Given the description of an element on the screen output the (x, y) to click on. 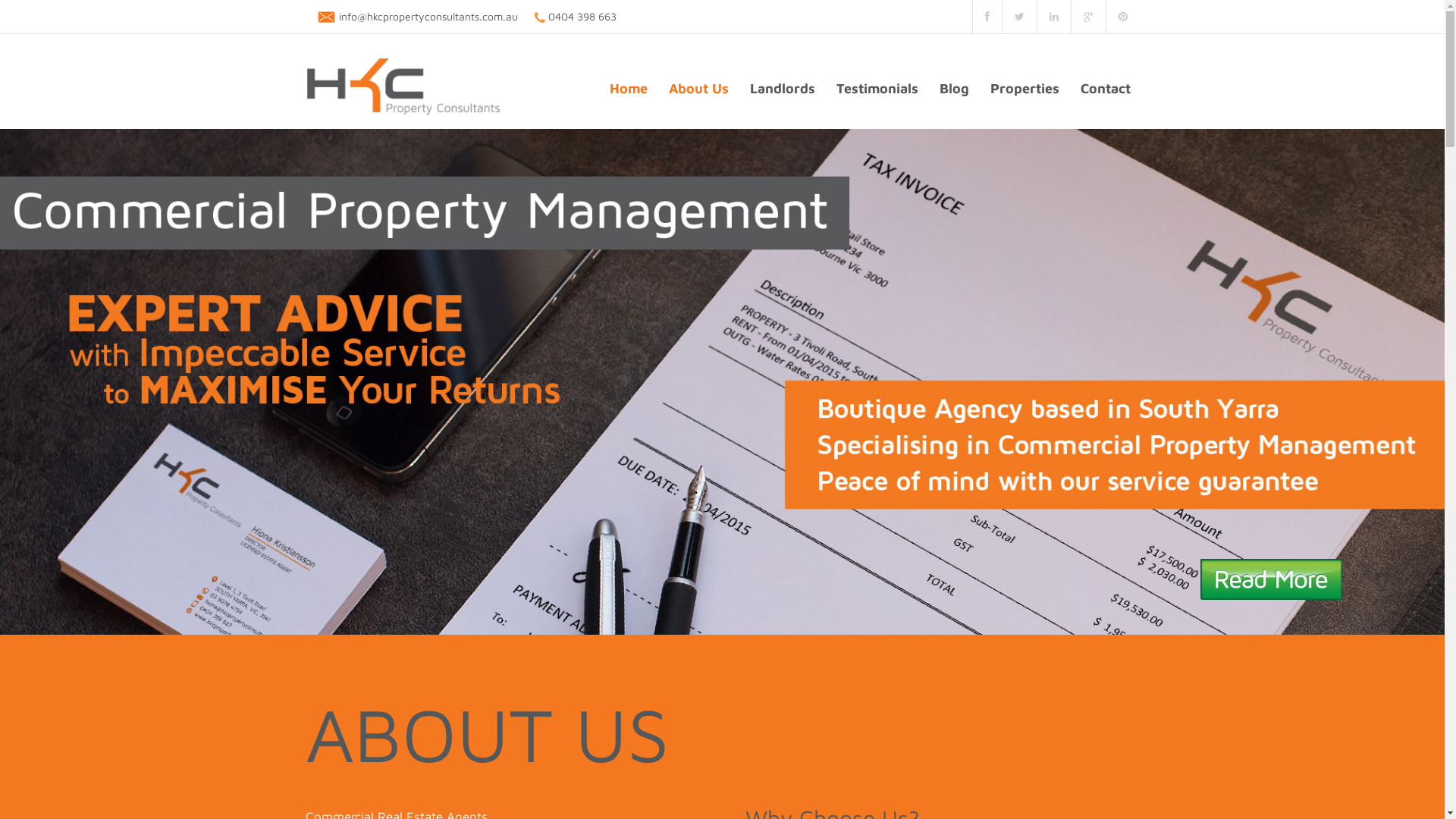
About Us Element type: text (698, 88)
Contact Element type: text (1104, 88)
Landlords Element type: text (781, 88)
Read More Element type: text (1271, 579)
Blog Element type: text (953, 88)
Testimonials Element type: text (876, 88)
Home Element type: text (628, 88)
Properties Element type: text (1024, 88)
info@hkcpropertyconsultants.com.au Element type: text (427, 15)
